Given the description of an element on the screen output the (x, y) to click on. 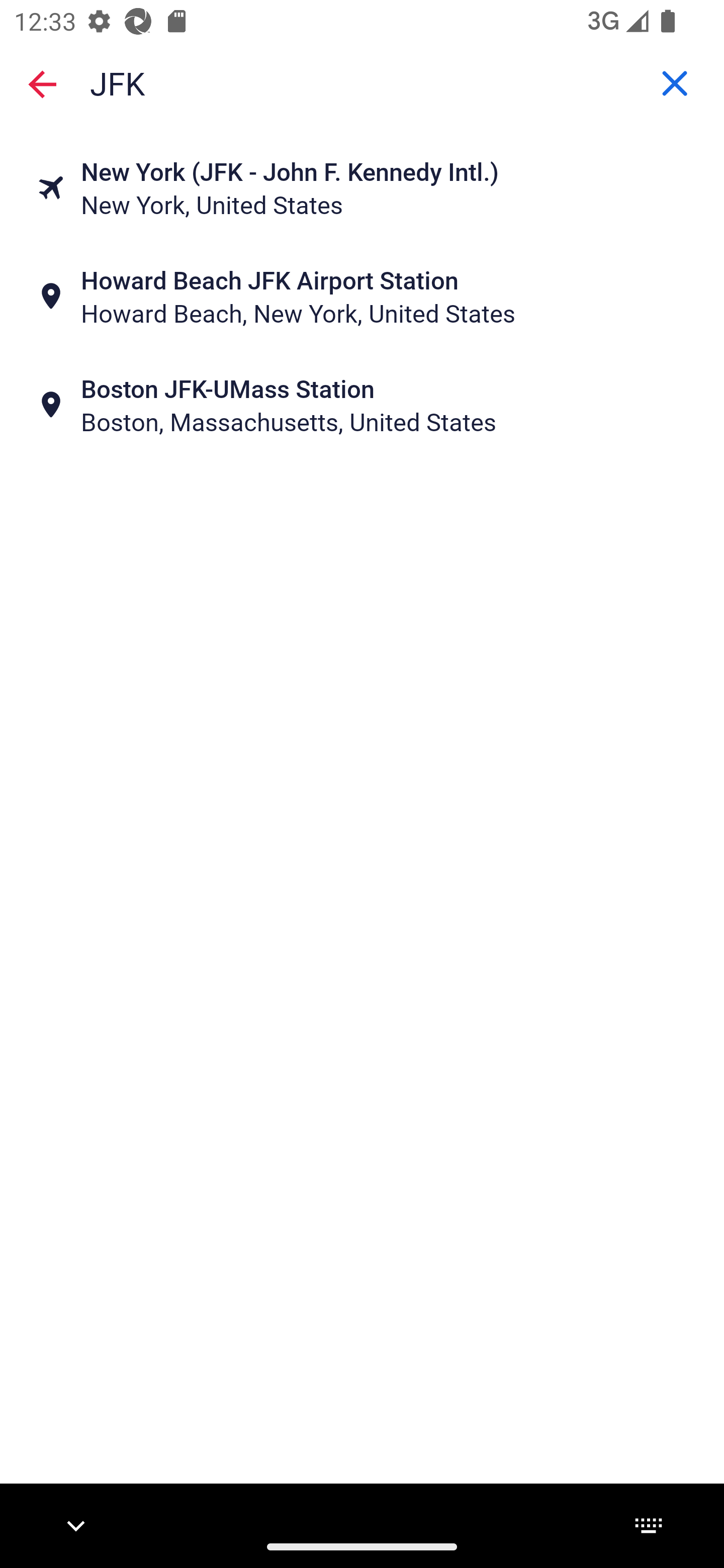
Close search screen (42, 84)
Clear Pick-up (674, 82)
Pick-up, JFK (361, 82)
